Given the description of an element on the screen output the (x, y) to click on. 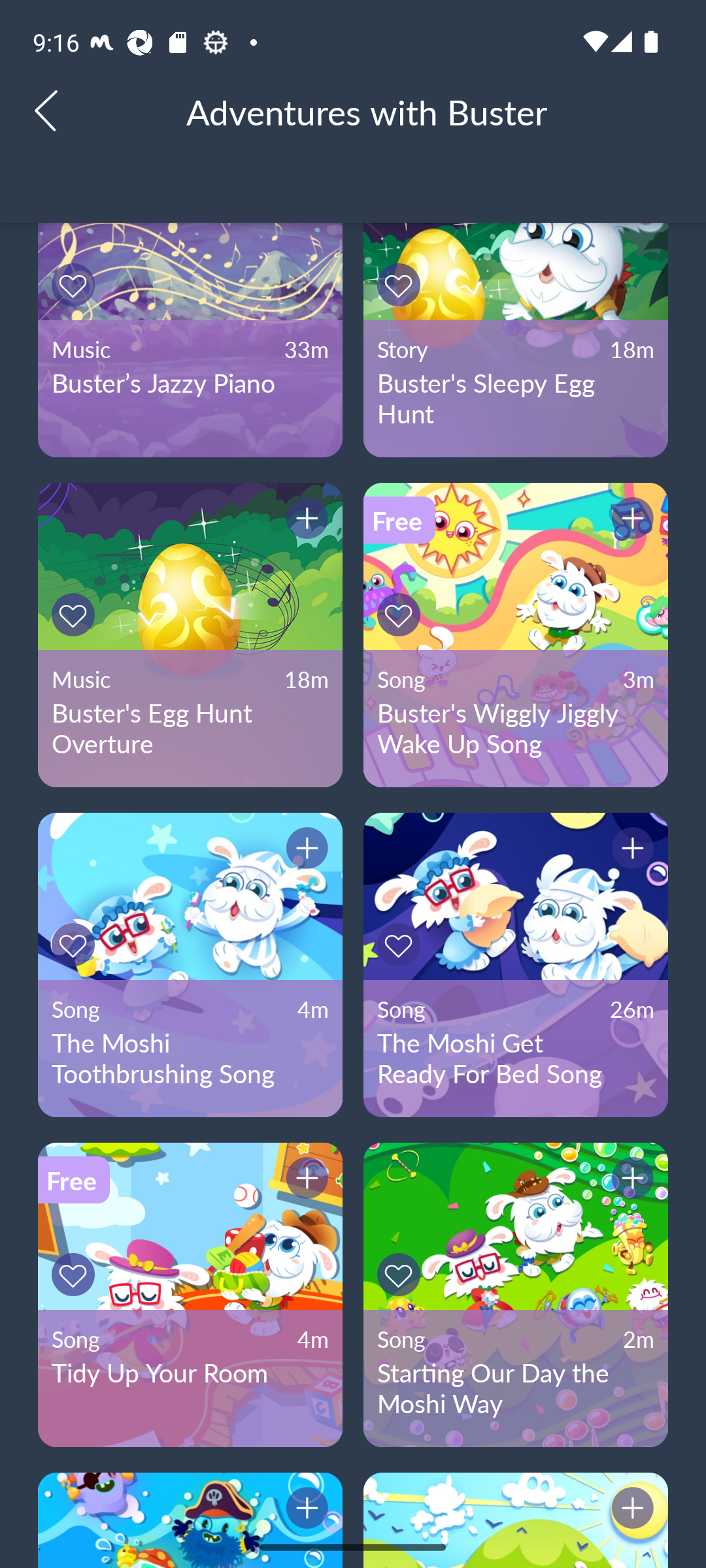
Button (76, 284)
Button (401, 284)
Button (304, 520)
Button (629, 520)
Button (76, 614)
Button (401, 614)
Button (304, 850)
Button (629, 850)
Button (76, 944)
Button (401, 944)
Button (304, 1181)
Button (629, 1181)
Button (76, 1274)
Button (401, 1274)
Button (304, 1510)
Button (629, 1510)
